Given the description of an element on the screen output the (x, y) to click on. 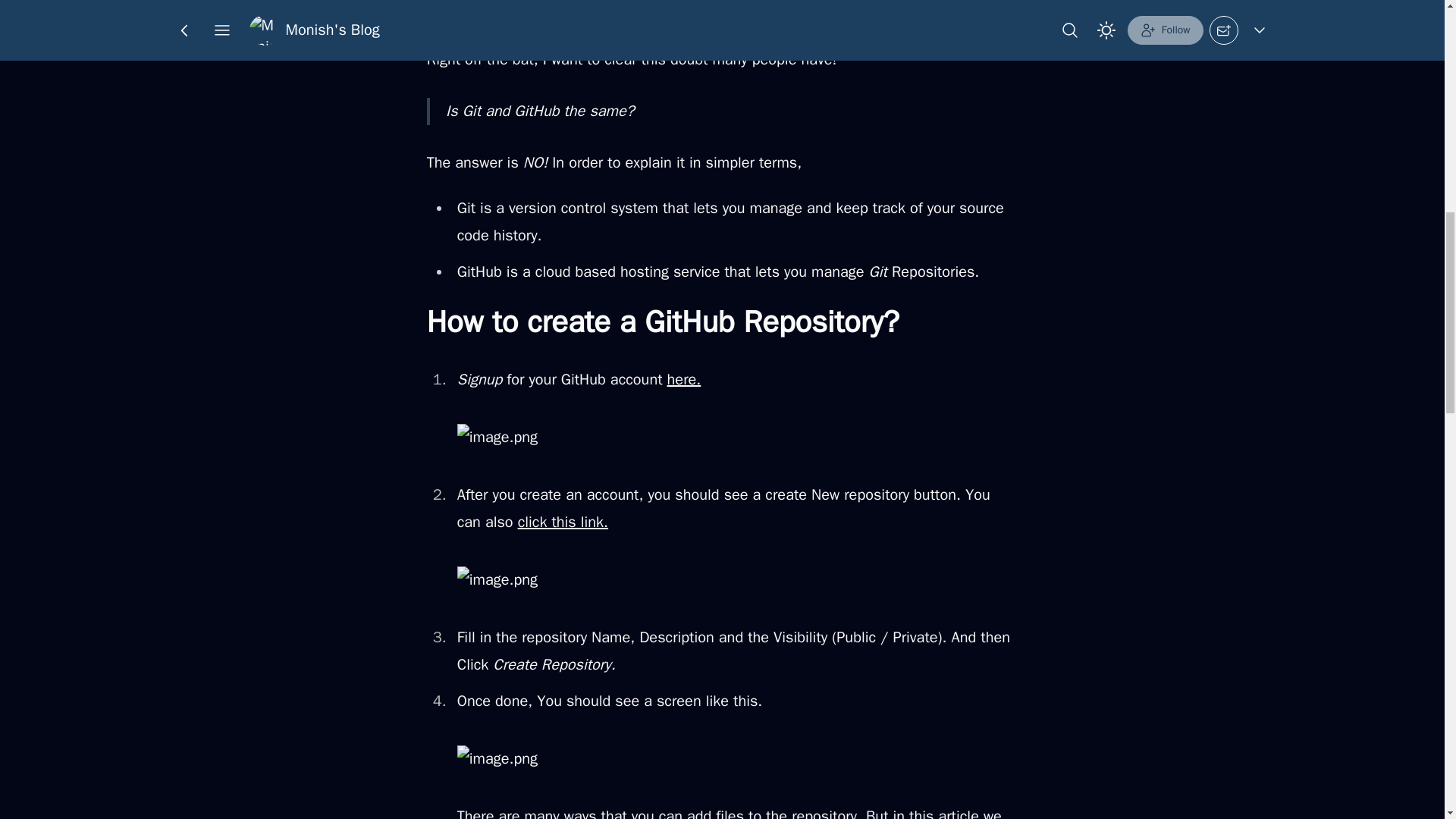
Add Bookmark (750, 24)
click this link. (563, 521)
here. (683, 379)
